Given the description of an element on the screen output the (x, y) to click on. 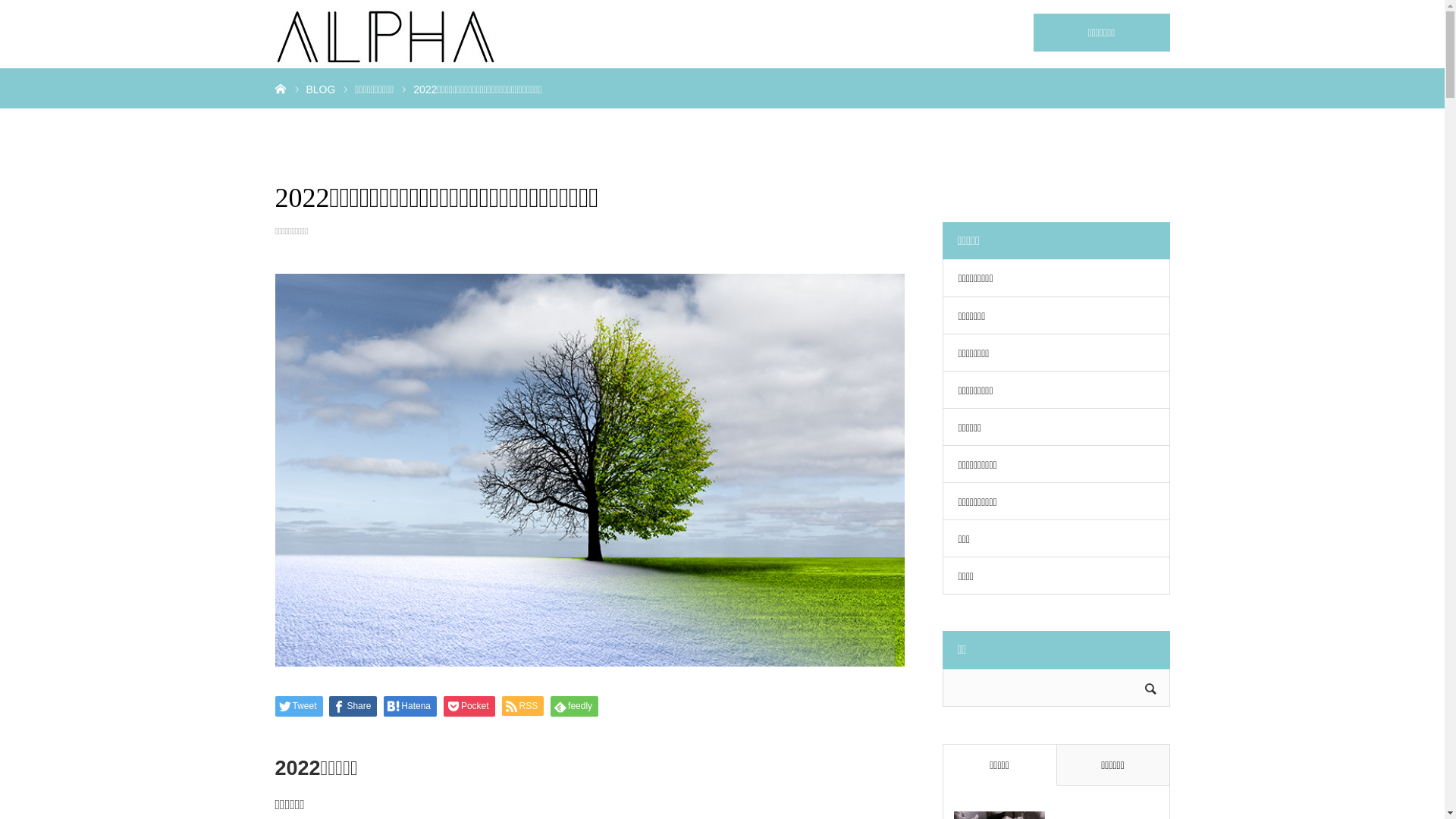
BLOG Element type: text (320, 89)
RSS Element type: text (523, 705)
Share Element type: text (352, 706)
Pocket Element type: text (469, 706)
Hatena Element type: text (409, 706)
feedly Element type: text (574, 706)
Tweet Element type: text (298, 706)
39mom Element type: hover (384, 33)
